Given the description of an element on the screen output the (x, y) to click on. 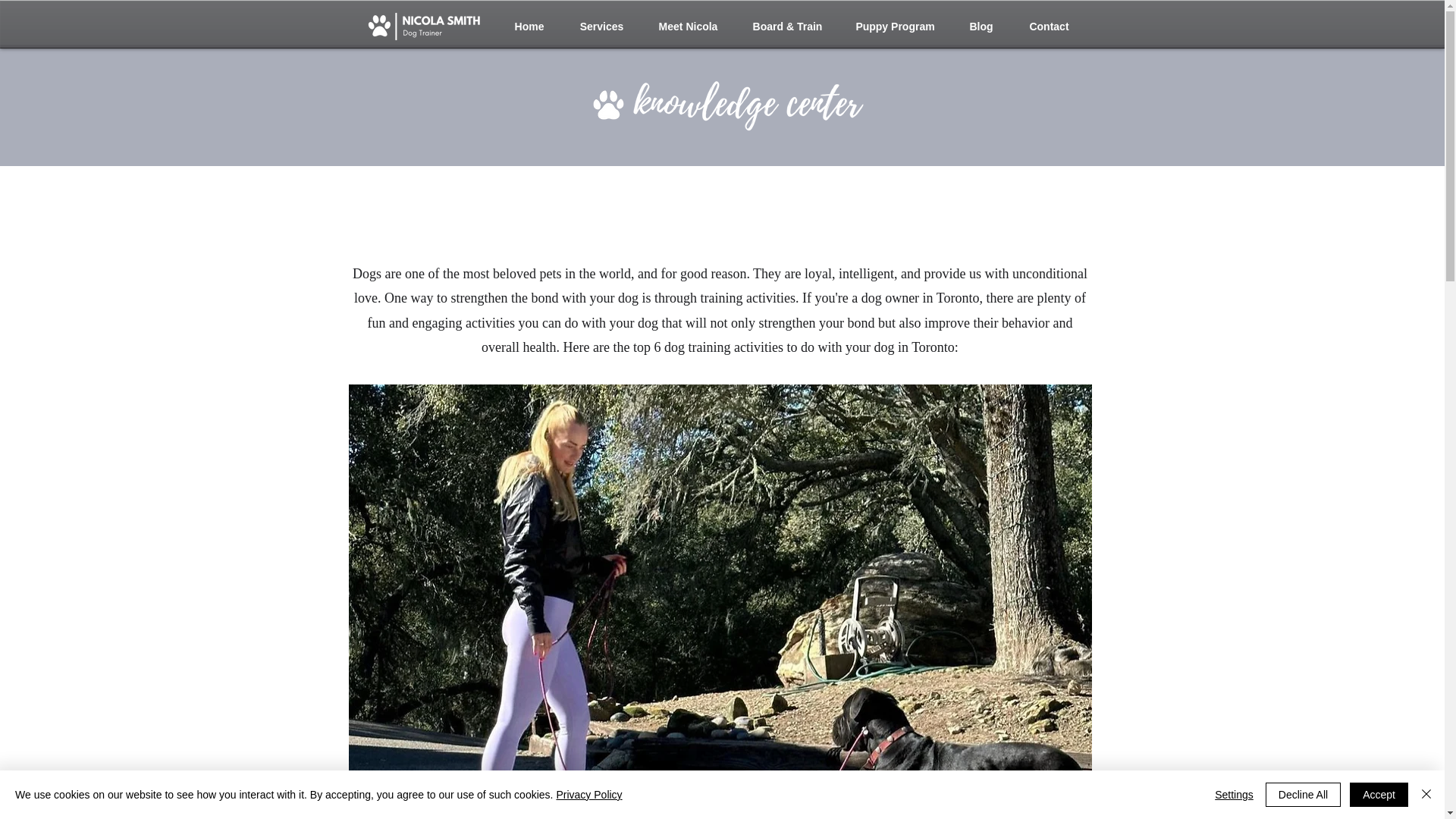
Puppy Program (894, 26)
Services (601, 26)
Contact (1049, 26)
Accept (1378, 794)
Blog (980, 26)
Meet Nicola (687, 26)
Decline All (1302, 794)
Home (529, 26)
Privacy Policy (588, 794)
